Given the description of an element on the screen output the (x, y) to click on. 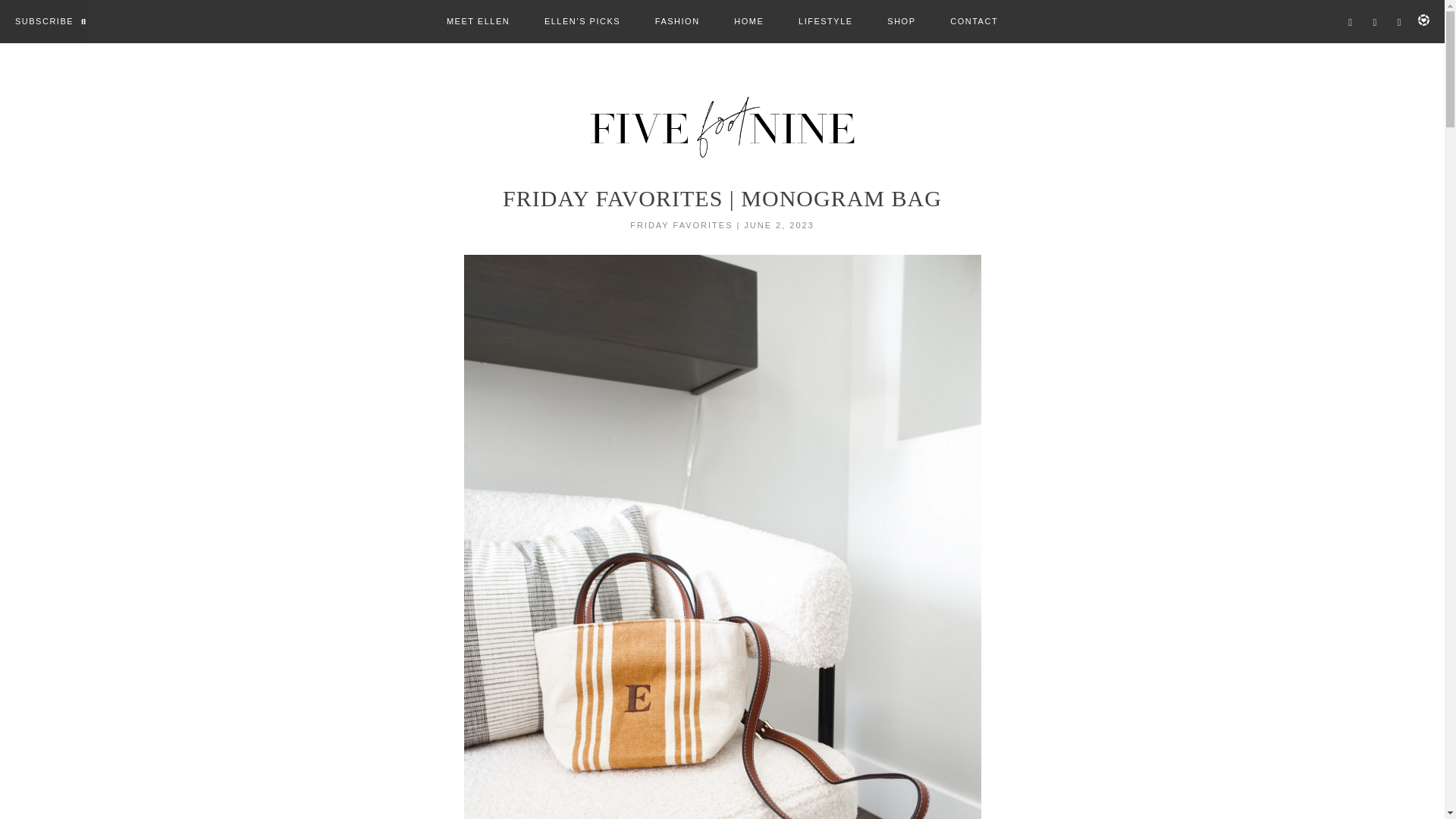
HOME (747, 21)
MEET ELLEN (477, 21)
SUBSCRIBE (44, 21)
SHOP (900, 21)
CONTACT (973, 21)
LIFESTYLE (825, 21)
FRIDAY FAVORITES (681, 225)
FASHION (677, 21)
